Given the description of an element on the screen output the (x, y) to click on. 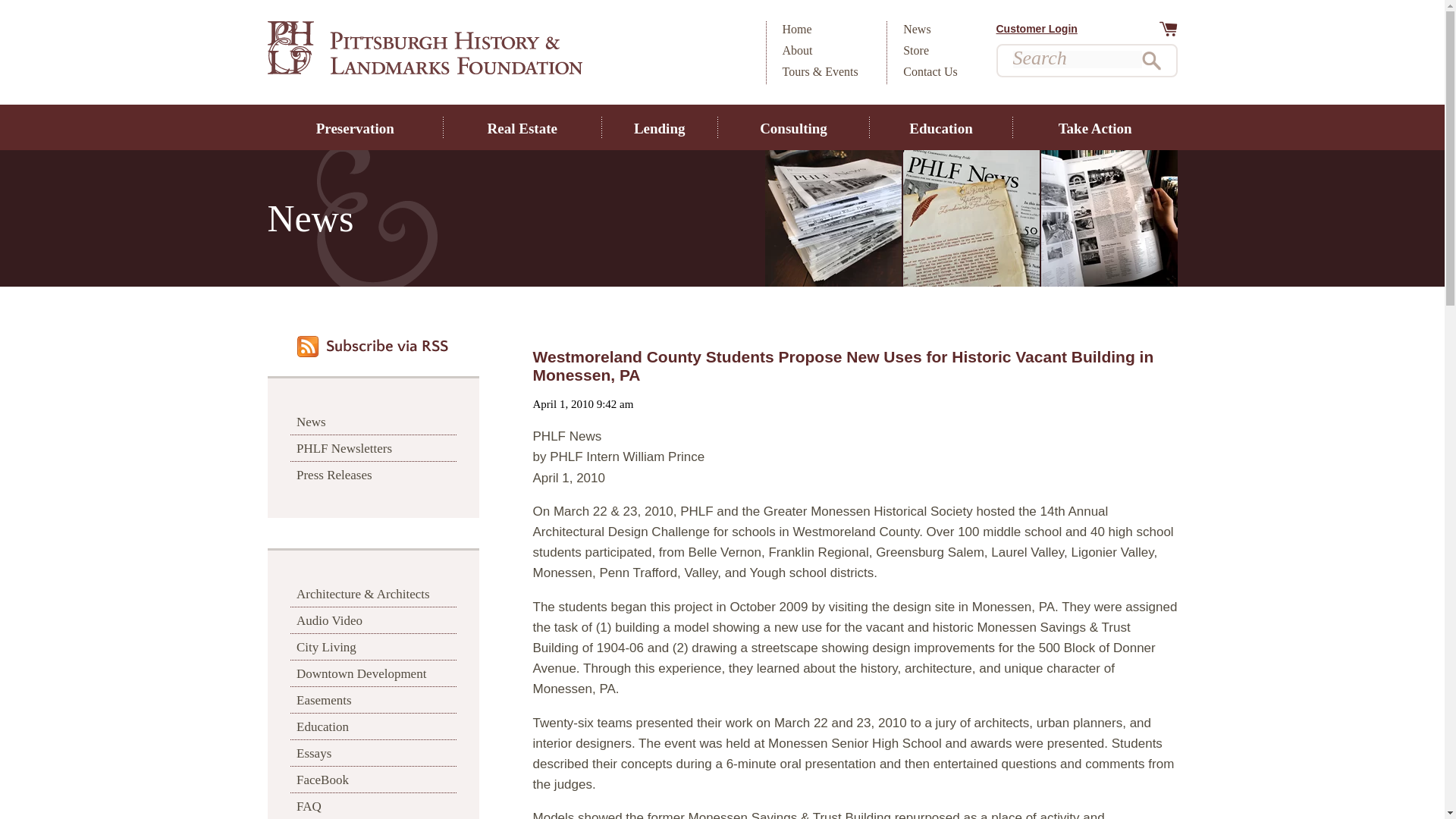
Search (1150, 60)
Search (1150, 60)
